Given the description of an element on the screen output the (x, y) to click on. 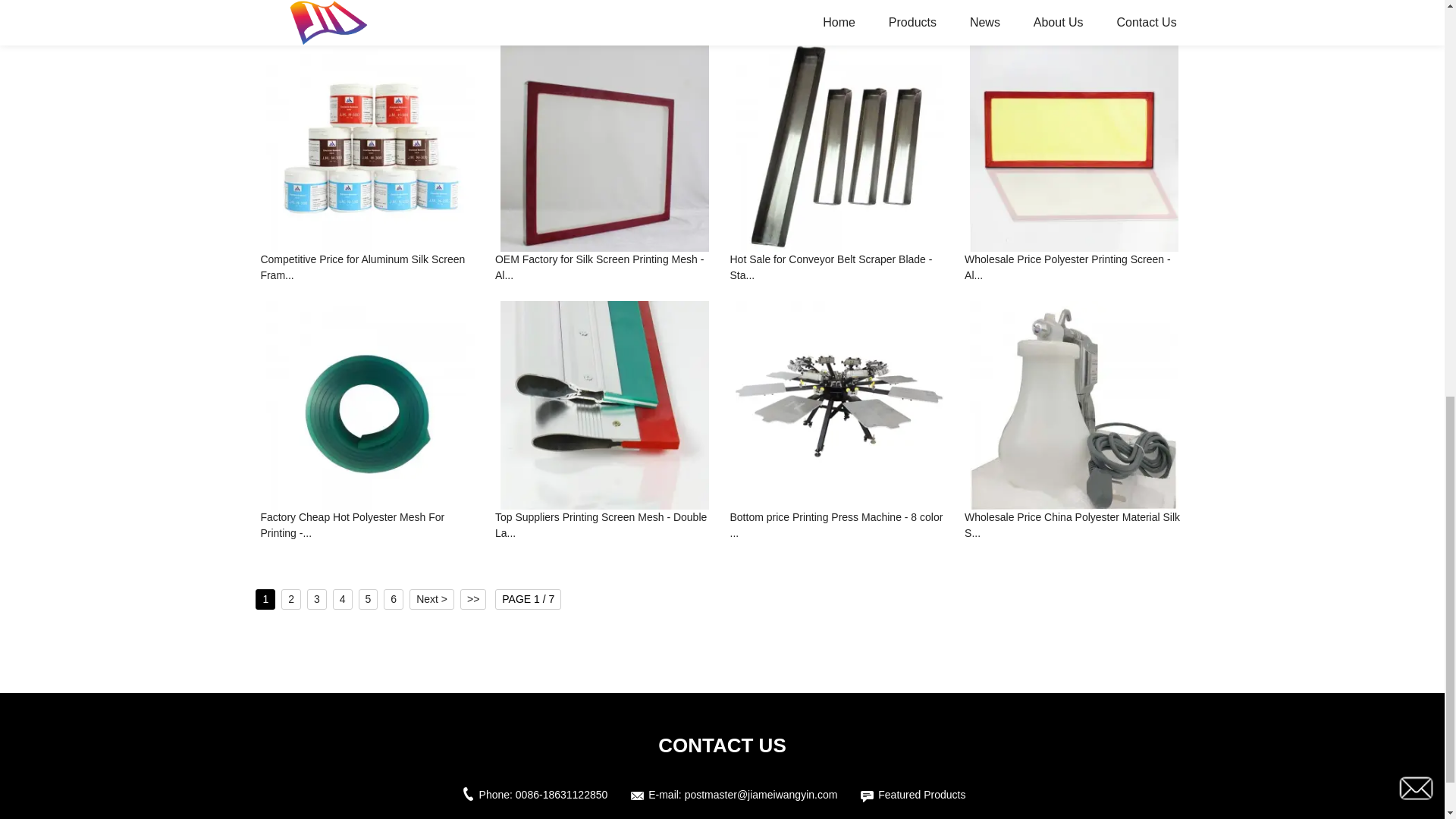
The Last Page (473, 598)
